Given the description of an element on the screen output the (x, y) to click on. 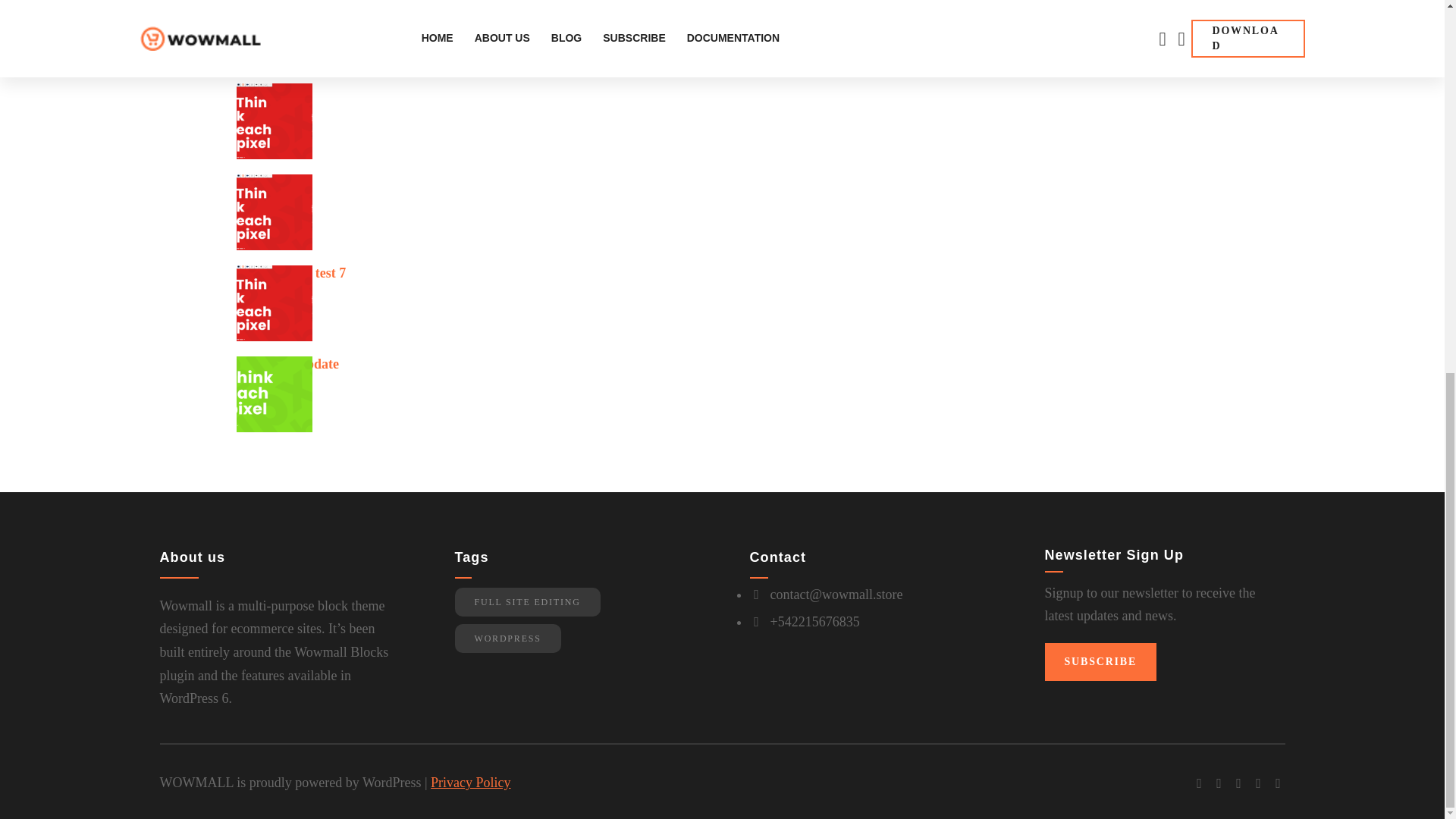
WORDPRESS (507, 638)
Hero Upload test 7 (290, 278)
FULL SITE EDITING (526, 602)
Hero test (262, 95)
Add to cart (426, 11)
Privacy Policy (470, 782)
Hello test (263, 186)
SUBSCRIBE (1101, 661)
Test Hero Update (287, 369)
